Given the description of an element on the screen output the (x, y) to click on. 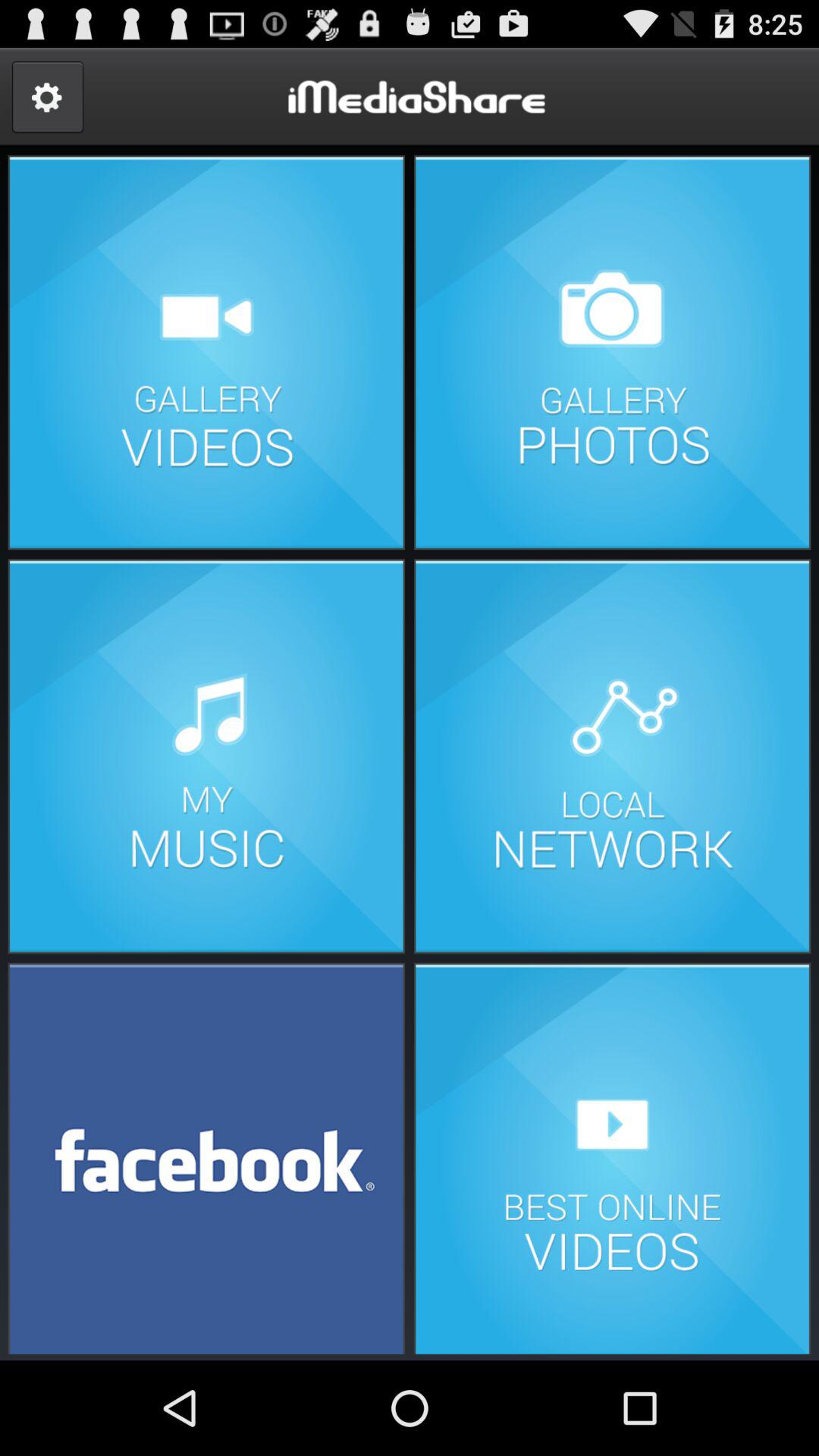
go to facebook (206, 1157)
